Given the description of an element on the screen output the (x, y) to click on. 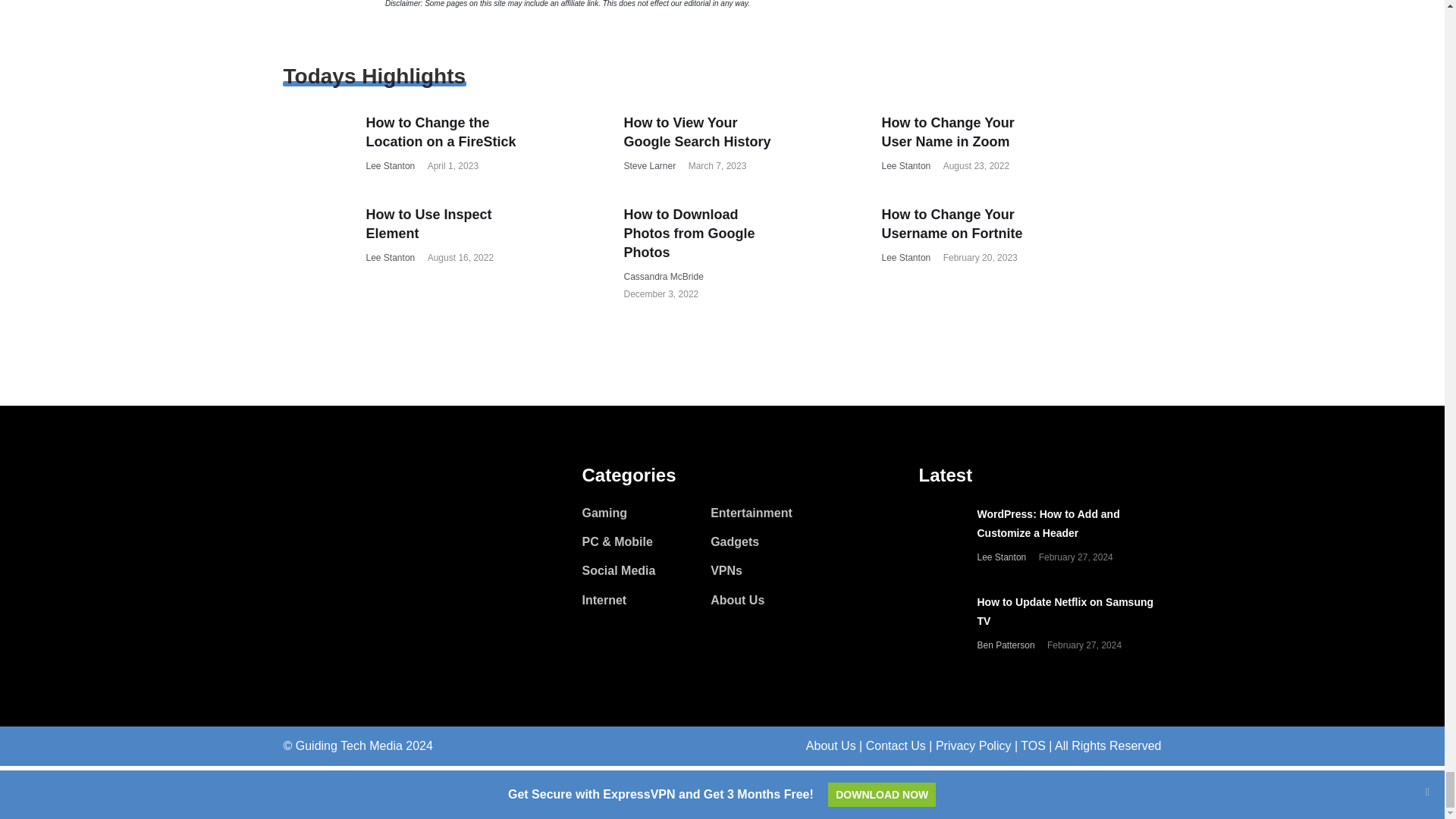
Twitter (322, 514)
Facebook (291, 514)
